Given the description of an element on the screen output the (x, y) to click on. 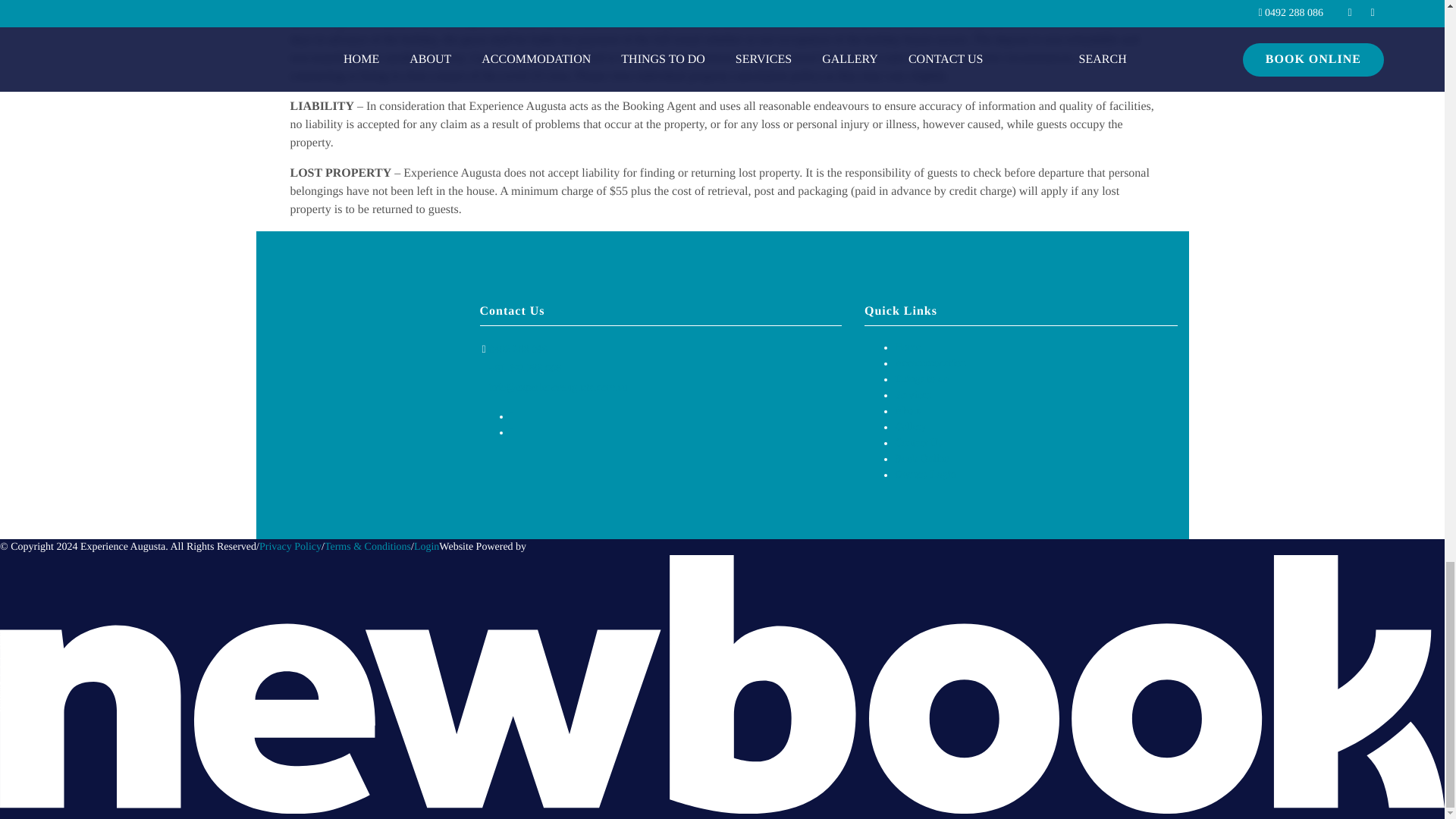
Log into the website editor (426, 546)
View our privacy policy (290, 546)
Services (912, 395)
Book Online (922, 459)
Gallery (910, 427)
Login (426, 546)
View our terms and conditions (367, 546)
Home (907, 347)
Privacy Policy (290, 546)
Contact Us (918, 442)
Owners Login (925, 474)
Things to do (922, 378)
Accommodation (930, 363)
About (908, 410)
0492 288 086 (518, 349)
